Given the description of an element on the screen output the (x, y) to click on. 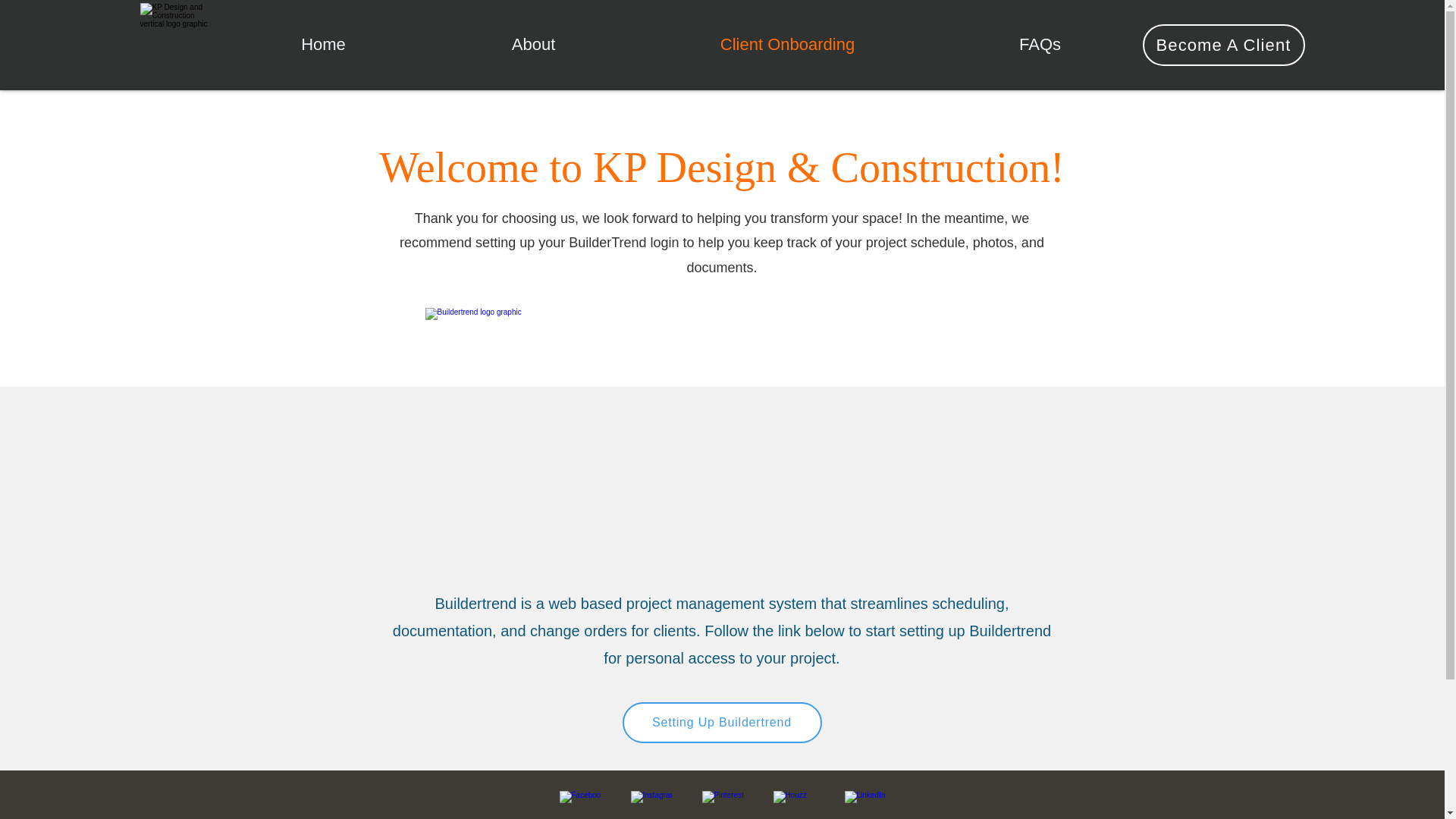
FAQs (1039, 44)
Setting Up Buildertrend (721, 721)
Become A Client (1222, 45)
Client Onboarding (788, 44)
Home (323, 44)
About (534, 44)
